Given the description of an element on the screen output the (x, y) to click on. 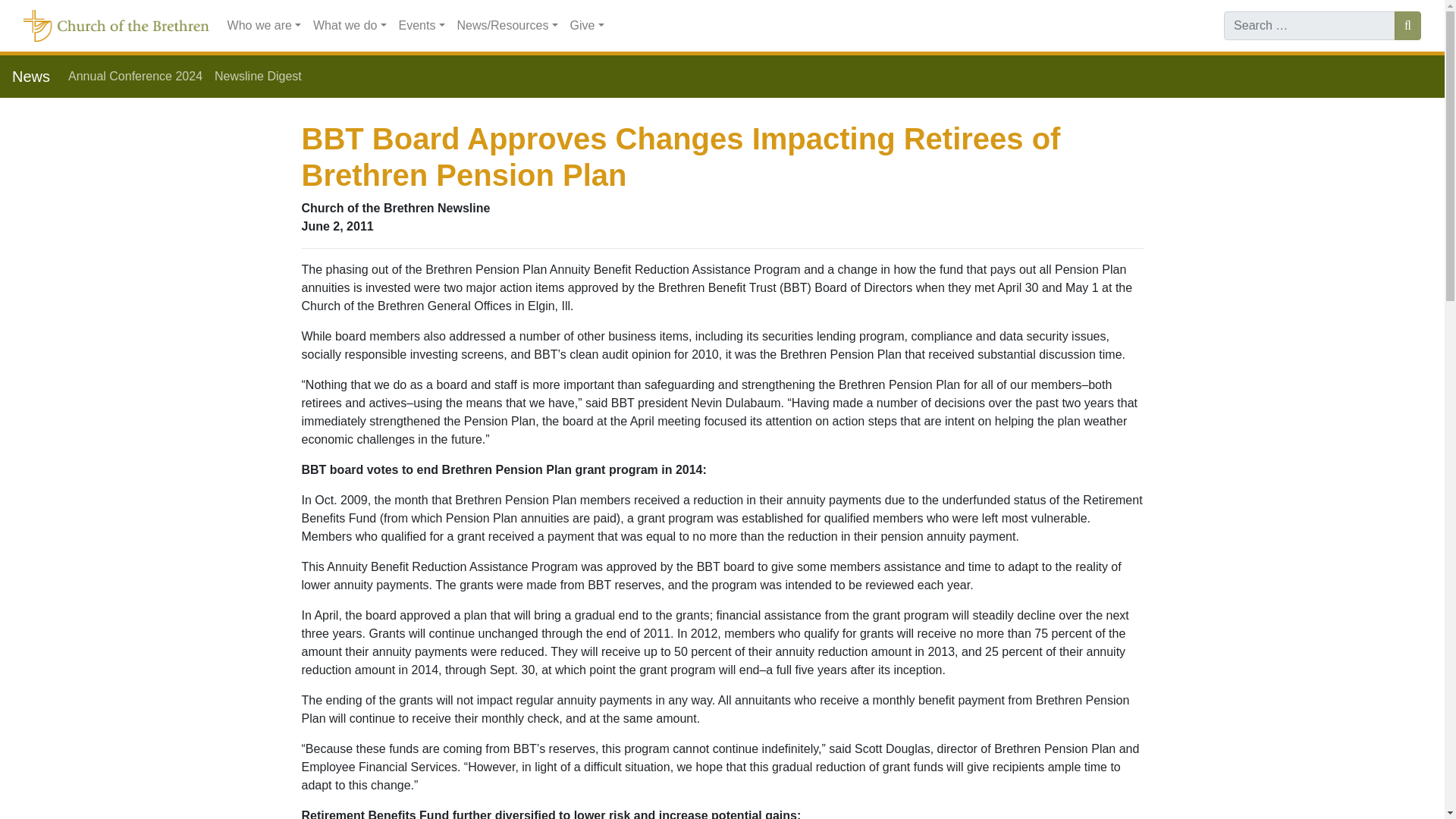
Who we are (264, 25)
Who we are (264, 25)
Events (422, 25)
What we do (350, 25)
What we do (350, 25)
